Given the description of an element on the screen output the (x, y) to click on. 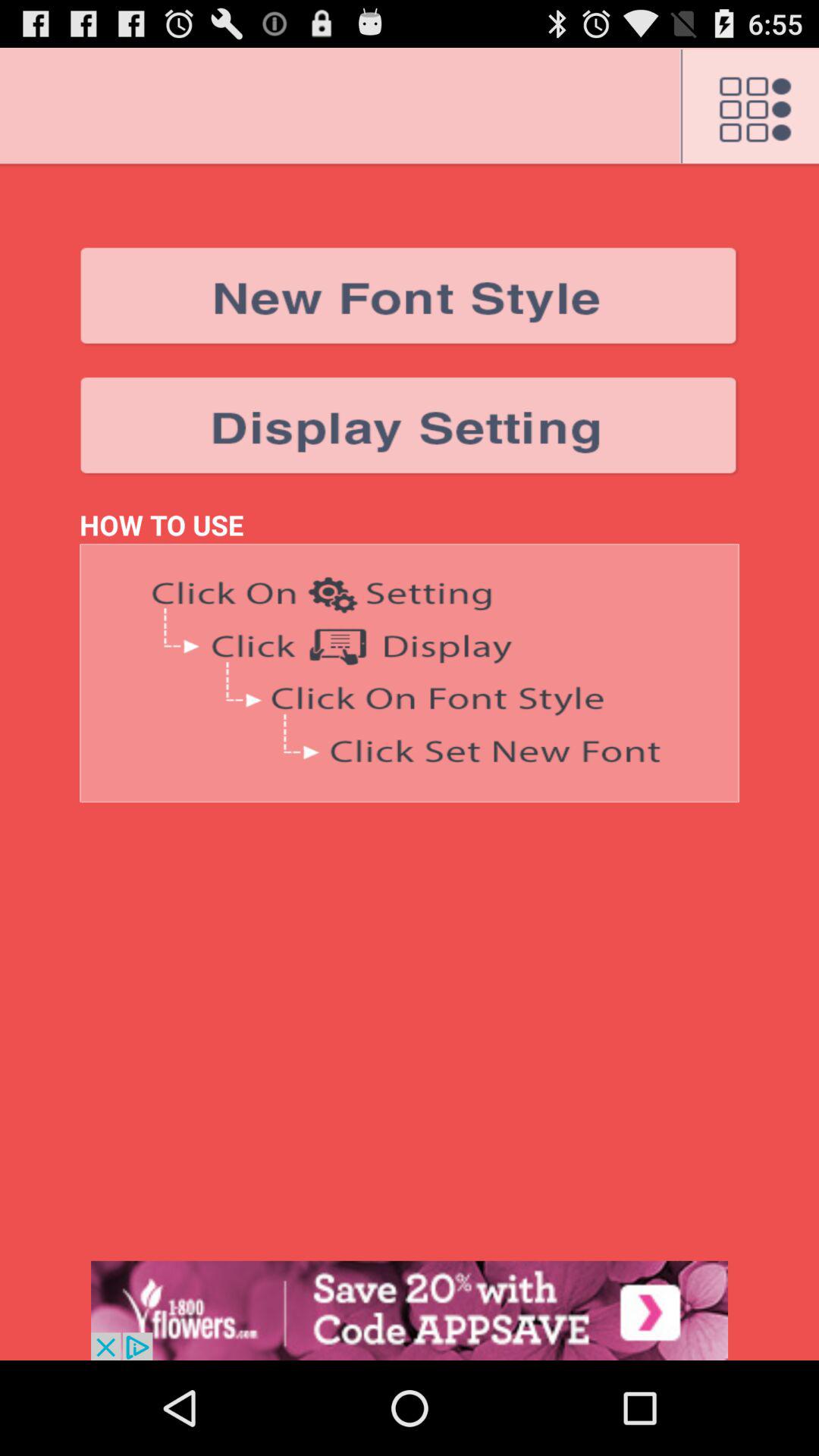
menu button (749, 106)
